Given the description of an element on the screen output the (x, y) to click on. 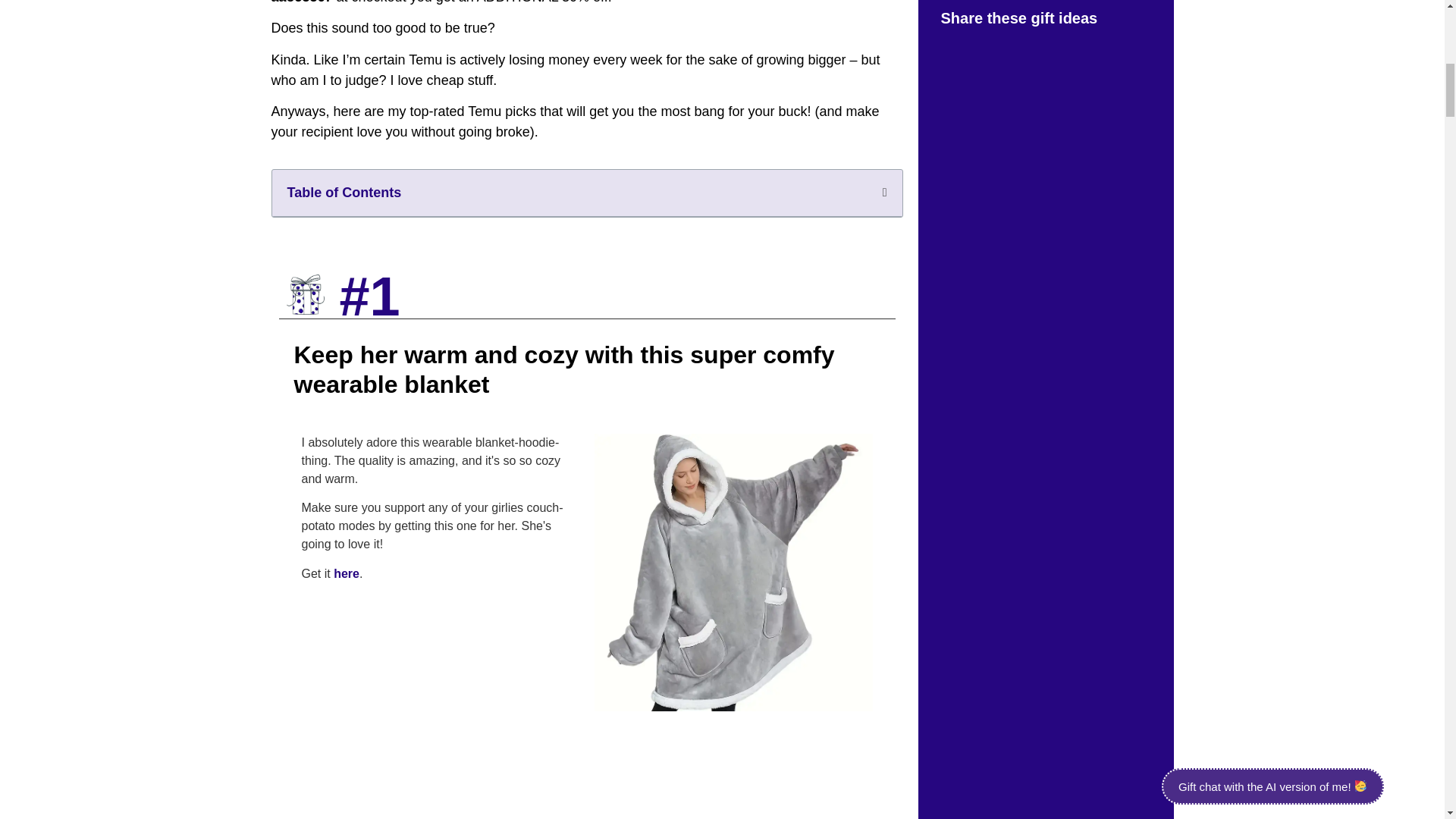
here (346, 573)
